Given the description of an element on the screen output the (x, y) to click on. 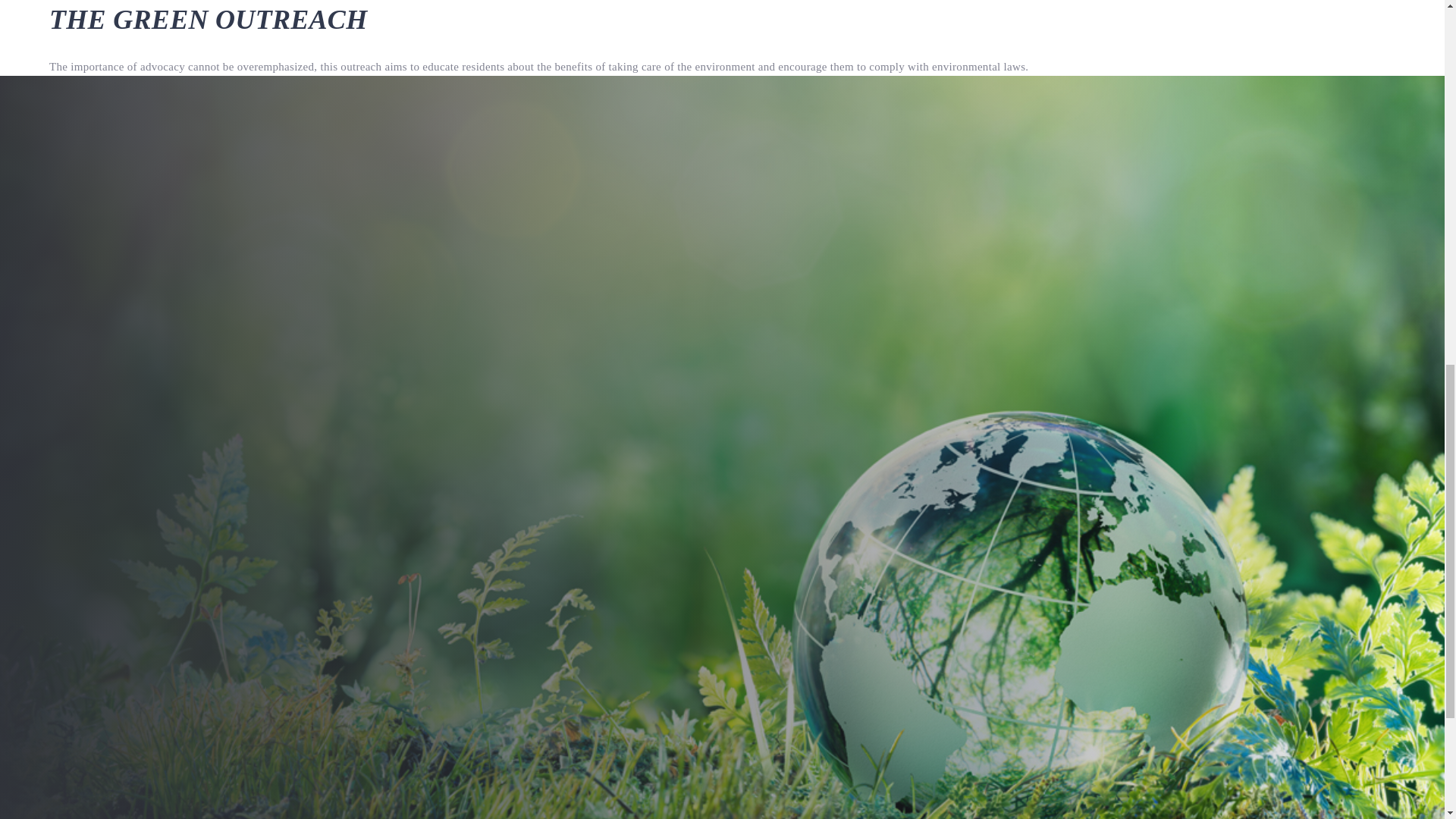
Submit Form (463, 639)
